Given the description of an element on the screen output the (x, y) to click on. 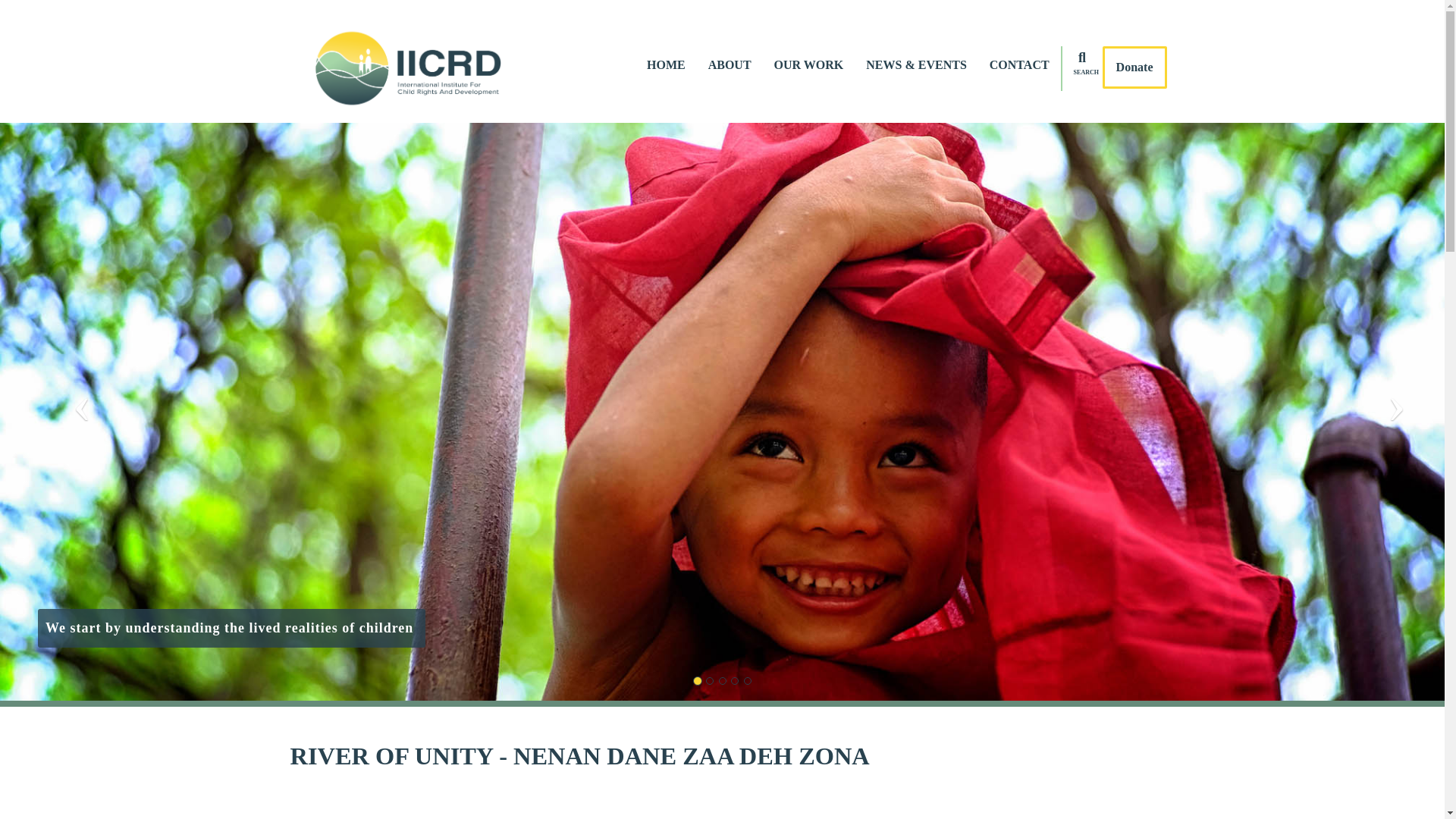
OUR WORK (809, 64)
ABOUT (729, 64)
HOME (665, 64)
Donate (1134, 66)
We start by understanding the lived realities of children  (231, 627)
Home (414, 69)
CONTACT (1019, 64)
SEARCH (1082, 79)
